Given the description of an element on the screen output the (x, y) to click on. 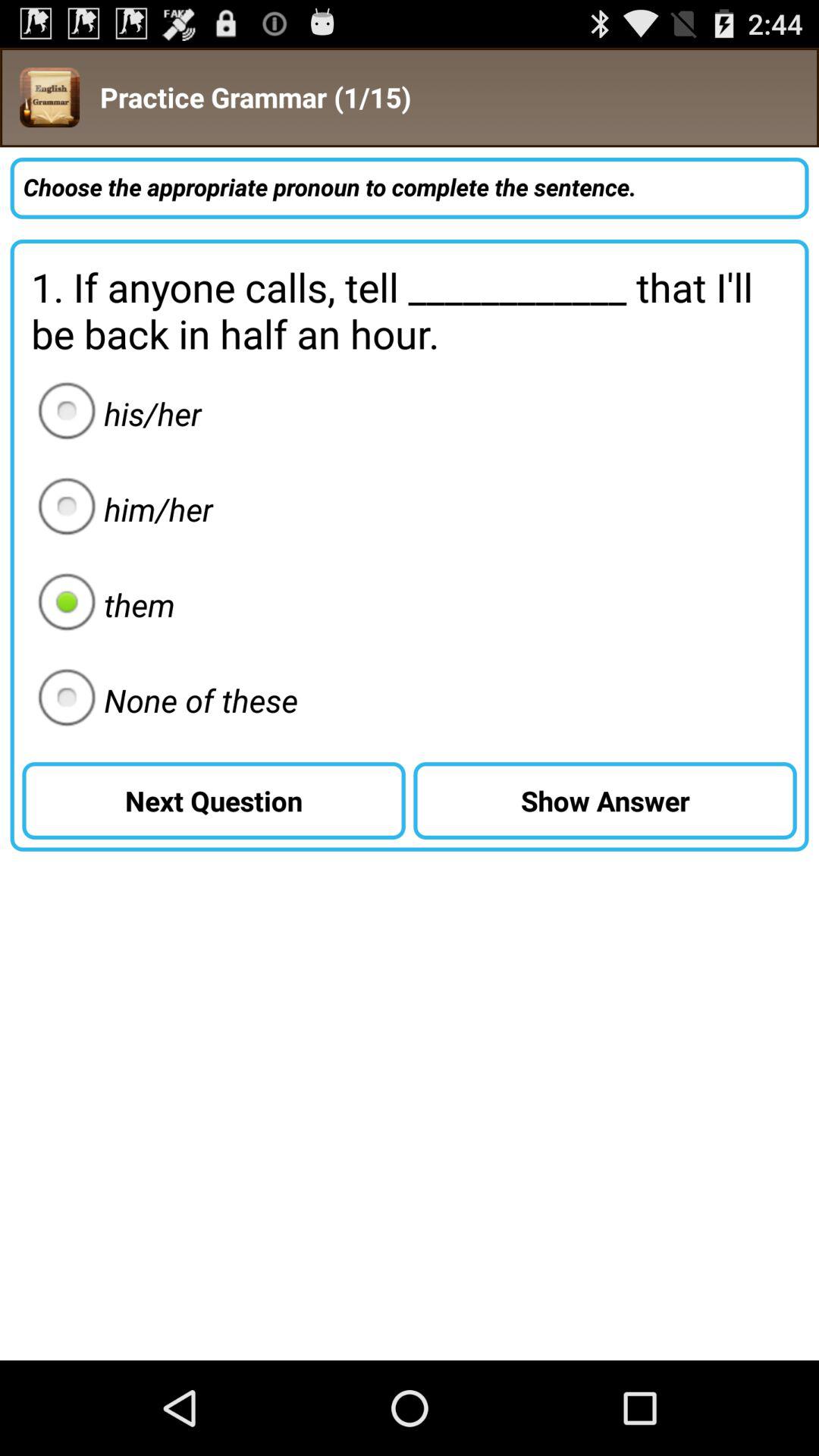
choose the icon below 1 if anyone icon (604, 800)
